Given the description of an element on the screen output the (x, y) to click on. 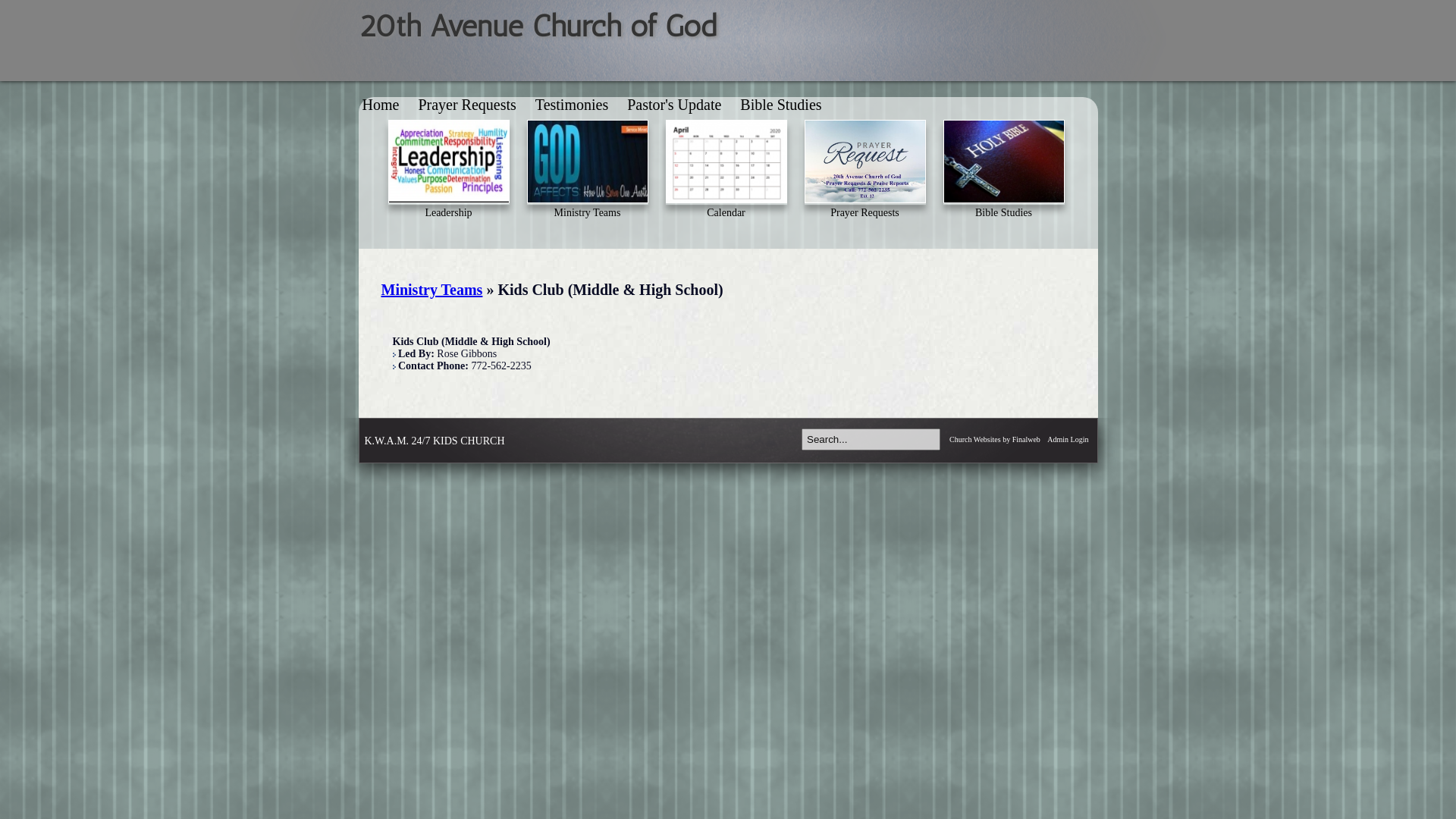
Pastor's Update Element type: text (674, 104)
Testimonies Element type: text (571, 104)
Ministry Teams Element type: text (431, 289)
Church Websites by Finalweb Element type: text (994, 439)
K.W.A.M. 24/7 KIDS CHURCH Element type: text (434, 440)
Prayer Requests Element type: text (466, 104)
Bible Studies Element type: text (780, 104)
Admin Login Element type: text (1067, 439)
Home Element type: text (380, 104)
